Given the description of an element on the screen output the (x, y) to click on. 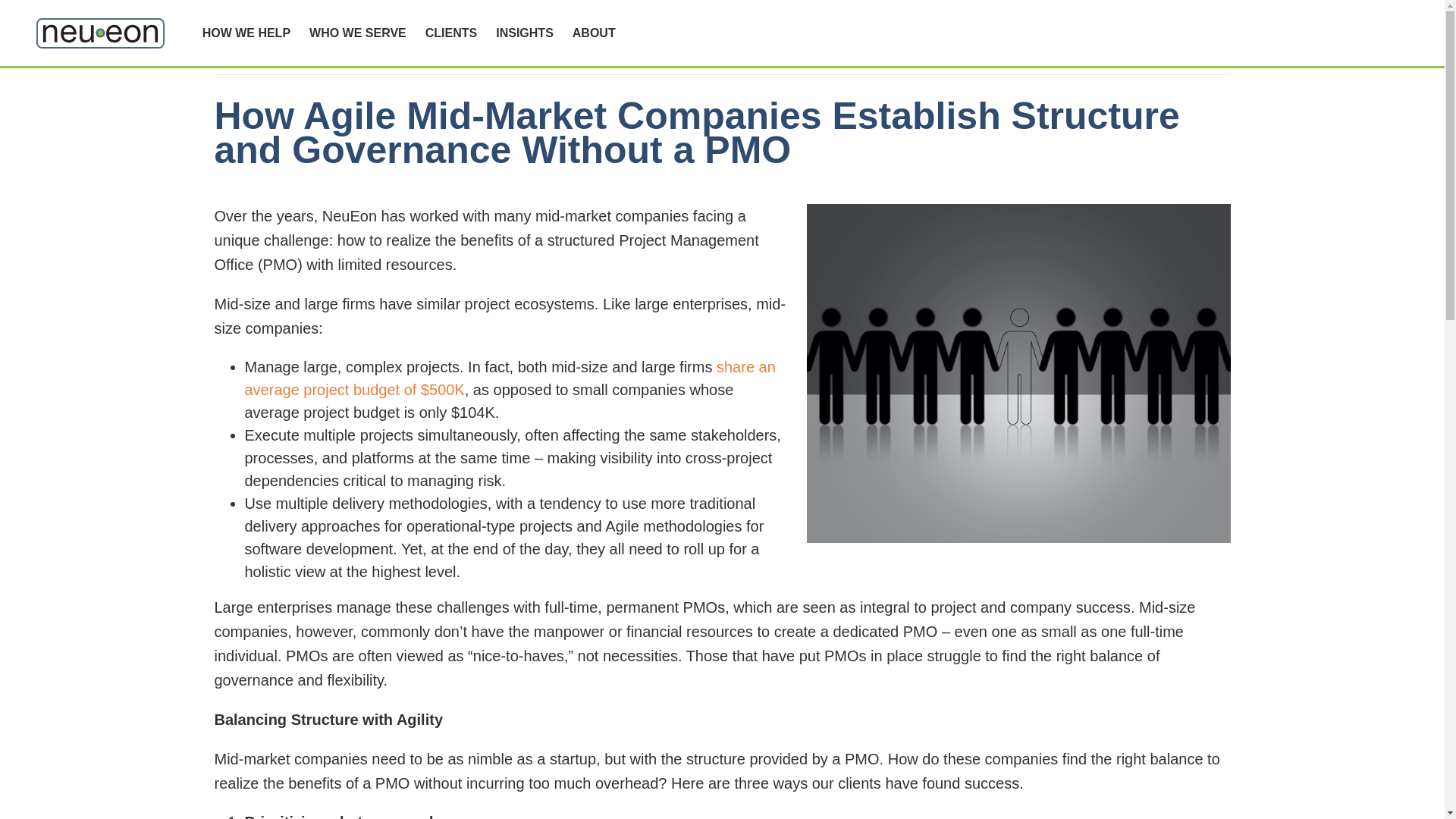
NeuEon, Inc. (100, 32)
WHO WE SERVE (357, 33)
HOW WE HELP (245, 33)
CLIENTS (451, 33)
INSIGHTS (524, 33)
ABOUT (593, 33)
